Given the description of an element on the screen output the (x, y) to click on. 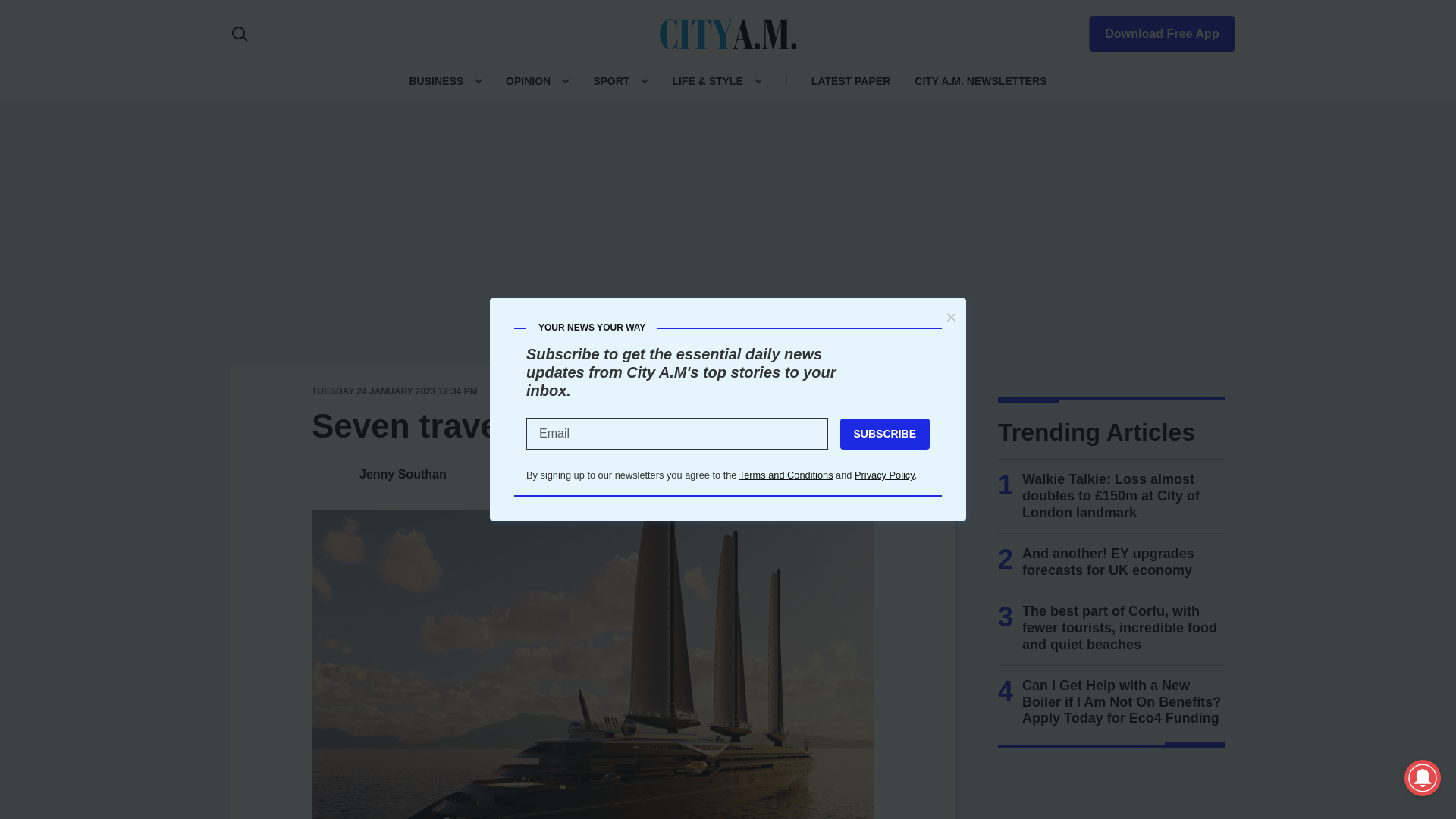
OPINION (527, 80)
BUSINESS (436, 80)
Download Free App (1152, 30)
SPORT (610, 80)
CityAM (727, 33)
